Given the description of an element on the screen output the (x, y) to click on. 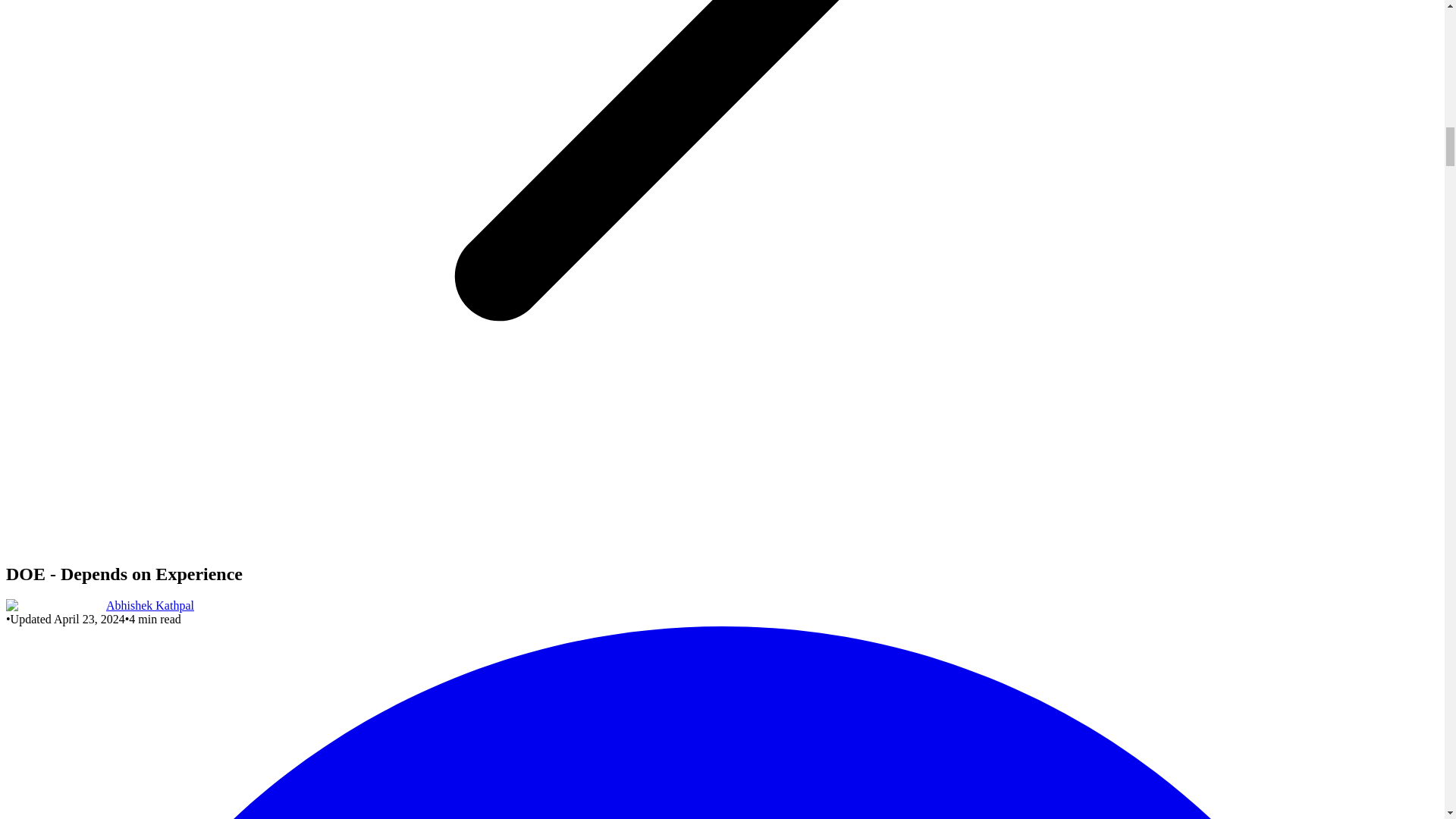
Abhishek Kathpal (149, 604)
